Given the description of an element on the screen output the (x, y) to click on. 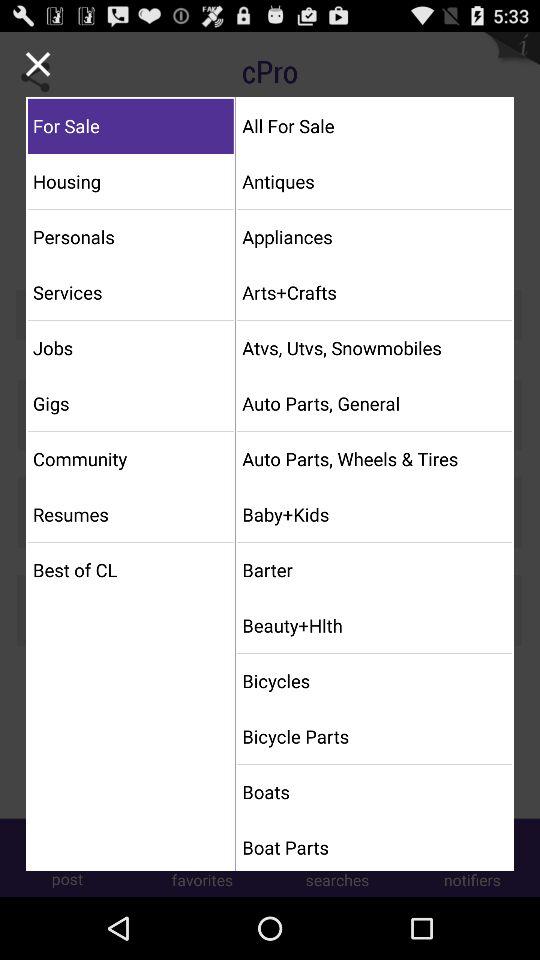
press app above resumes icon (130, 458)
